Given the description of an element on the screen output the (x, y) to click on. 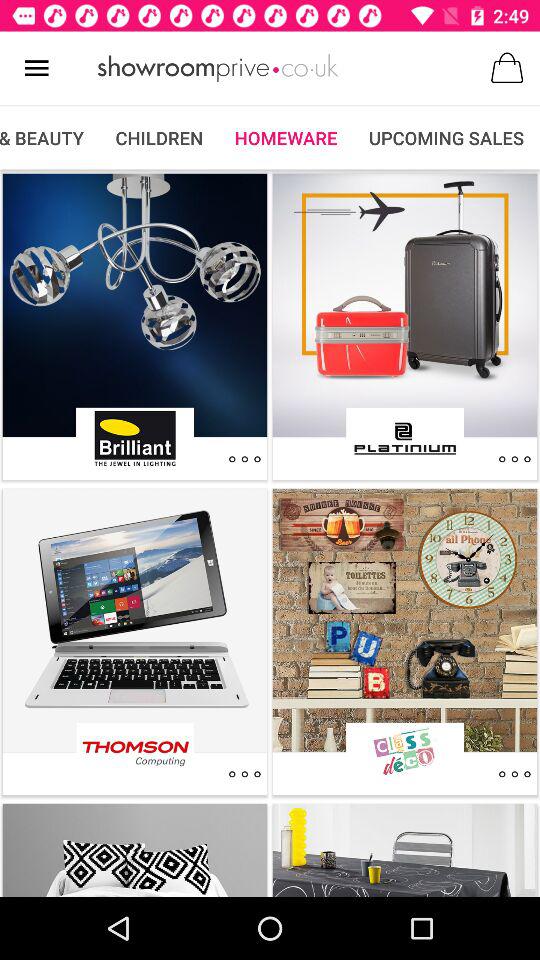
more options (514, 774)
